Given the description of an element on the screen output the (x, y) to click on. 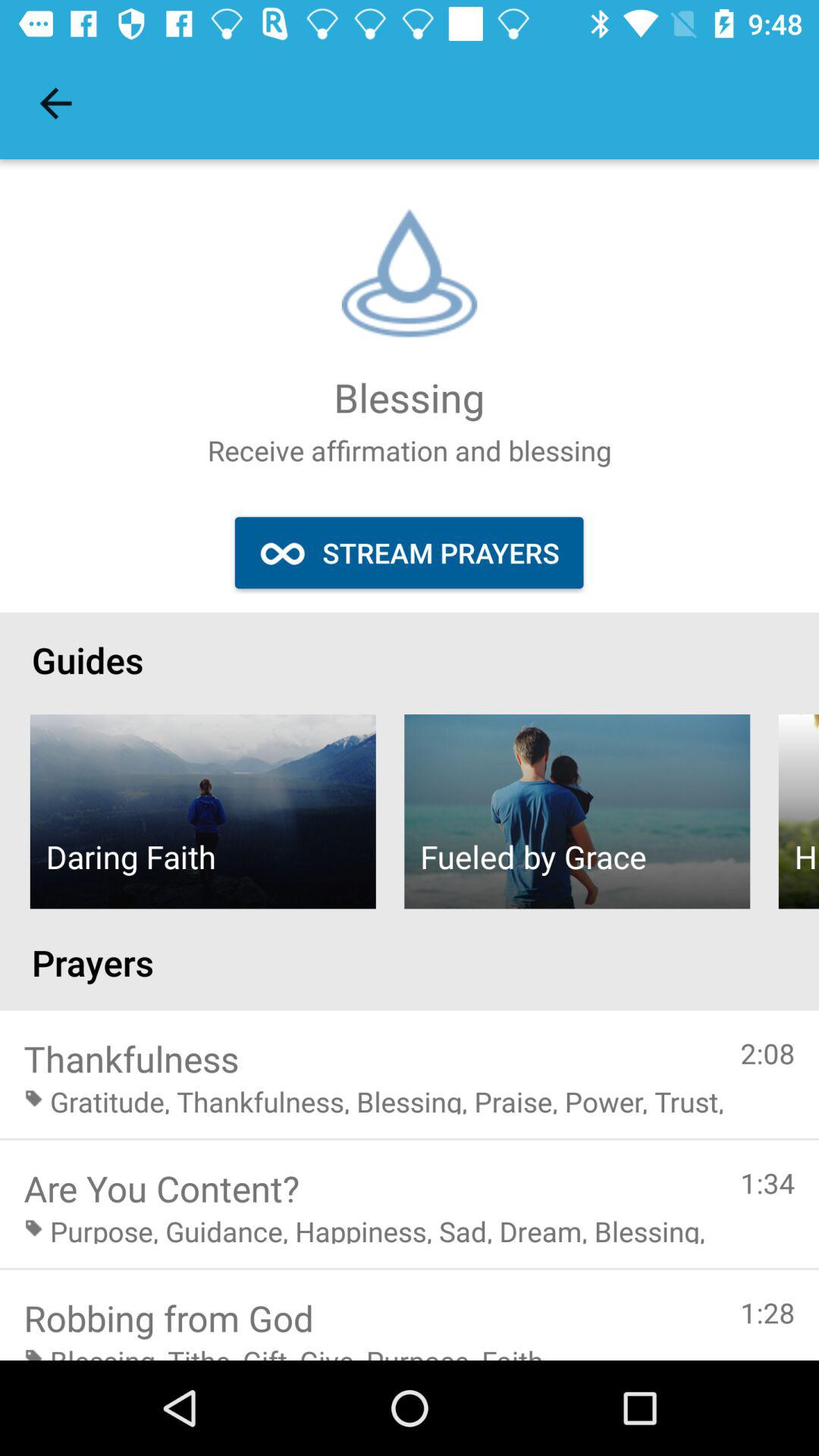
select stream prayers icon (408, 552)
